Given the description of an element on the screen output the (x, y) to click on. 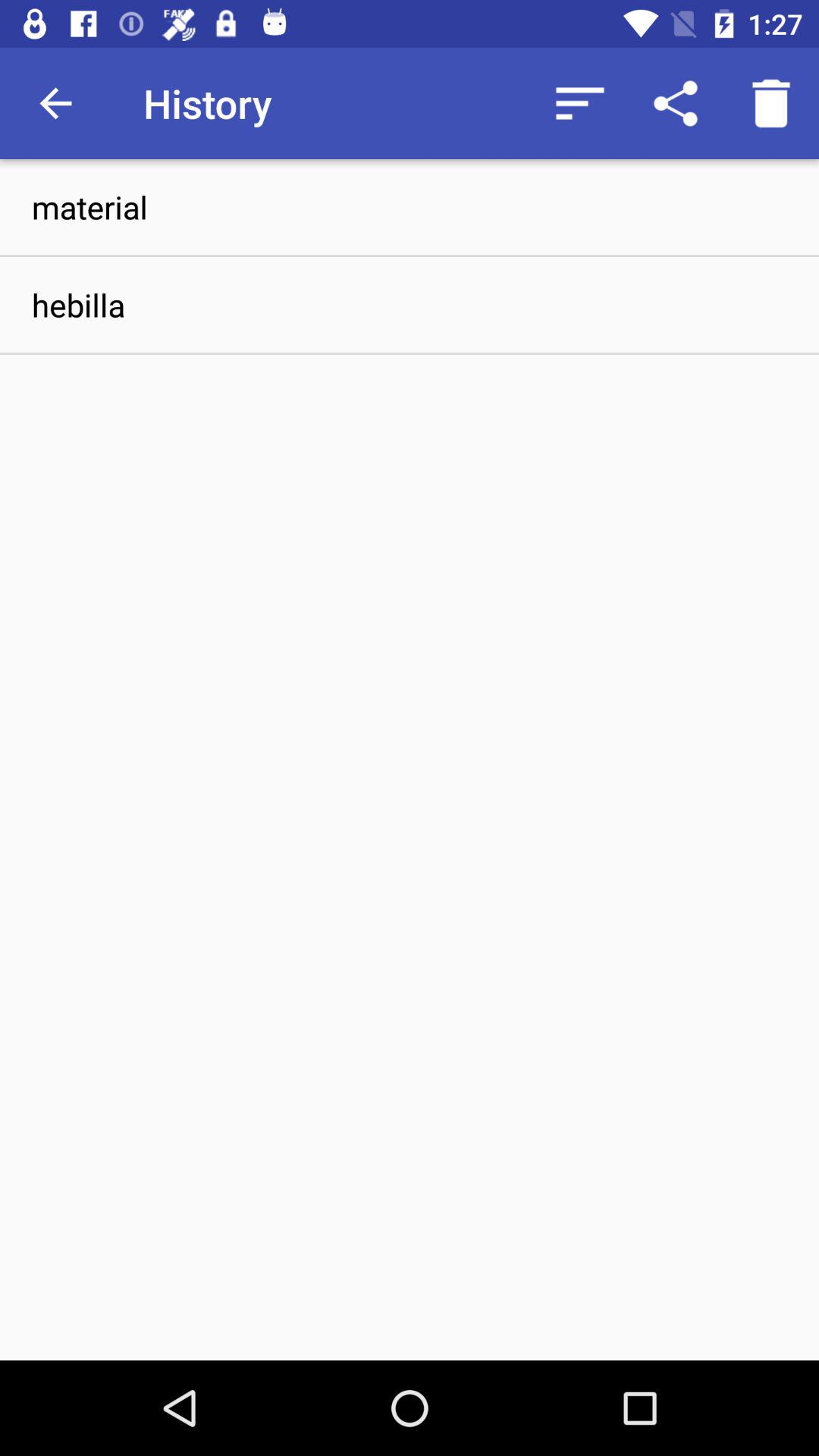
click material (409, 206)
